Given the description of an element on the screen output the (x, y) to click on. 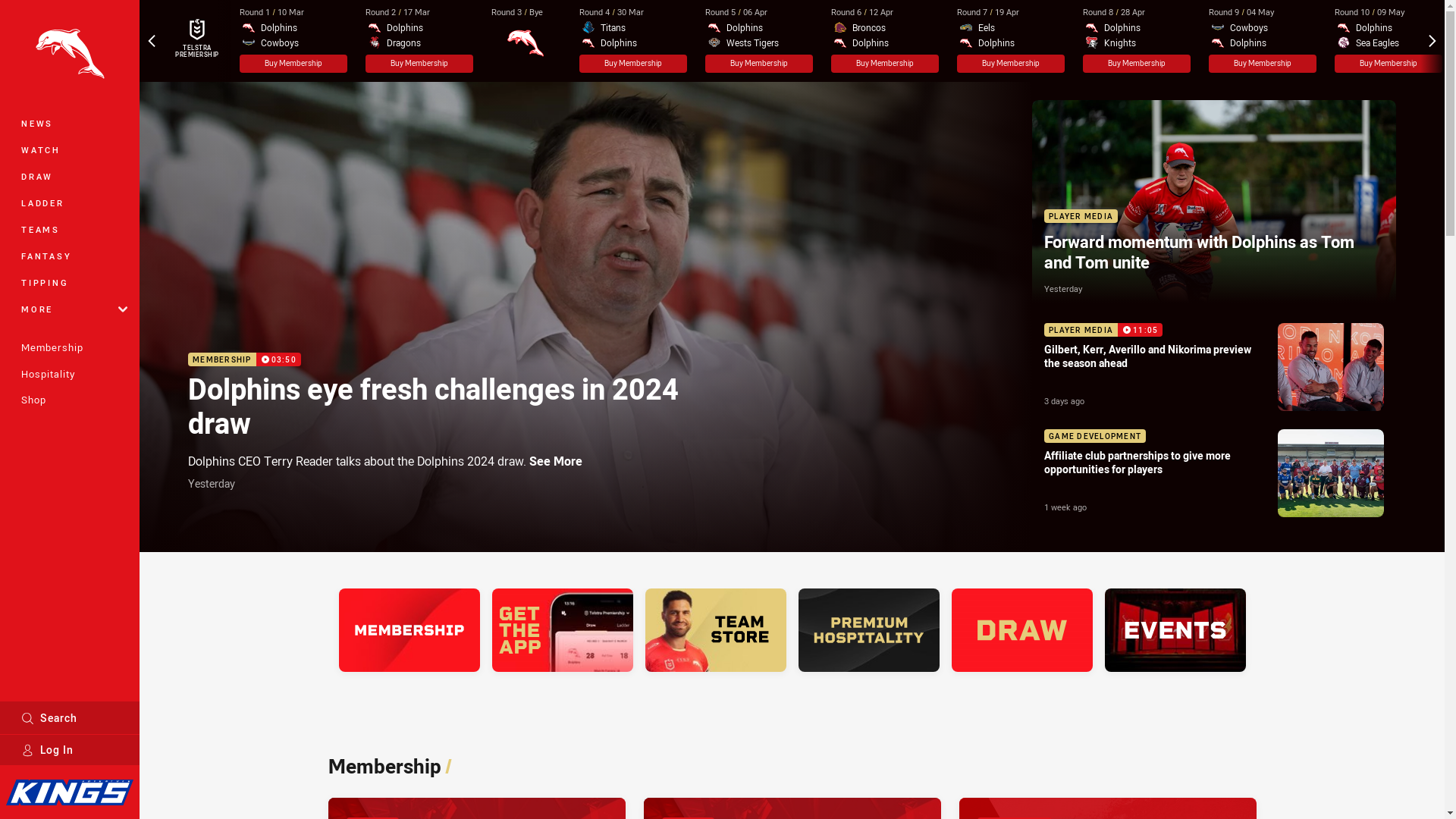
Buy Membership Element type: text (293, 63)
Buy Membership Element type: text (758, 63)
Buy Membership Element type: text (1262, 63)
Hospitality Element type: text (69, 373)
TEAMS Element type: text (69, 229)
Shop Element type: text (69, 399)
MORE Element type: text (69, 308)
WATCH Element type: text (69, 149)
Buy Membership Element type: text (1388, 63)
FANTASY Element type: text (69, 255)
Buy Membership Element type: text (1010, 63)
Buy Membership Element type: text (633, 63)
Search Element type: text (69, 717)
Buy Membership Element type: text (884, 63)
TIPPING Element type: text (69, 282)
Membership Element type: text (69, 347)
NEWS Element type: text (69, 122)
View All Element type: text (181, 40)
Buy Membership Element type: text (1136, 63)
Log In Element type: text (69, 749)
DRAW Element type: text (69, 176)
Membership
/ Element type: text (389, 766)
LADDER Element type: text (69, 202)
Buy Membership Element type: text (419, 63)
